Given the description of an element on the screen output the (x, y) to click on. 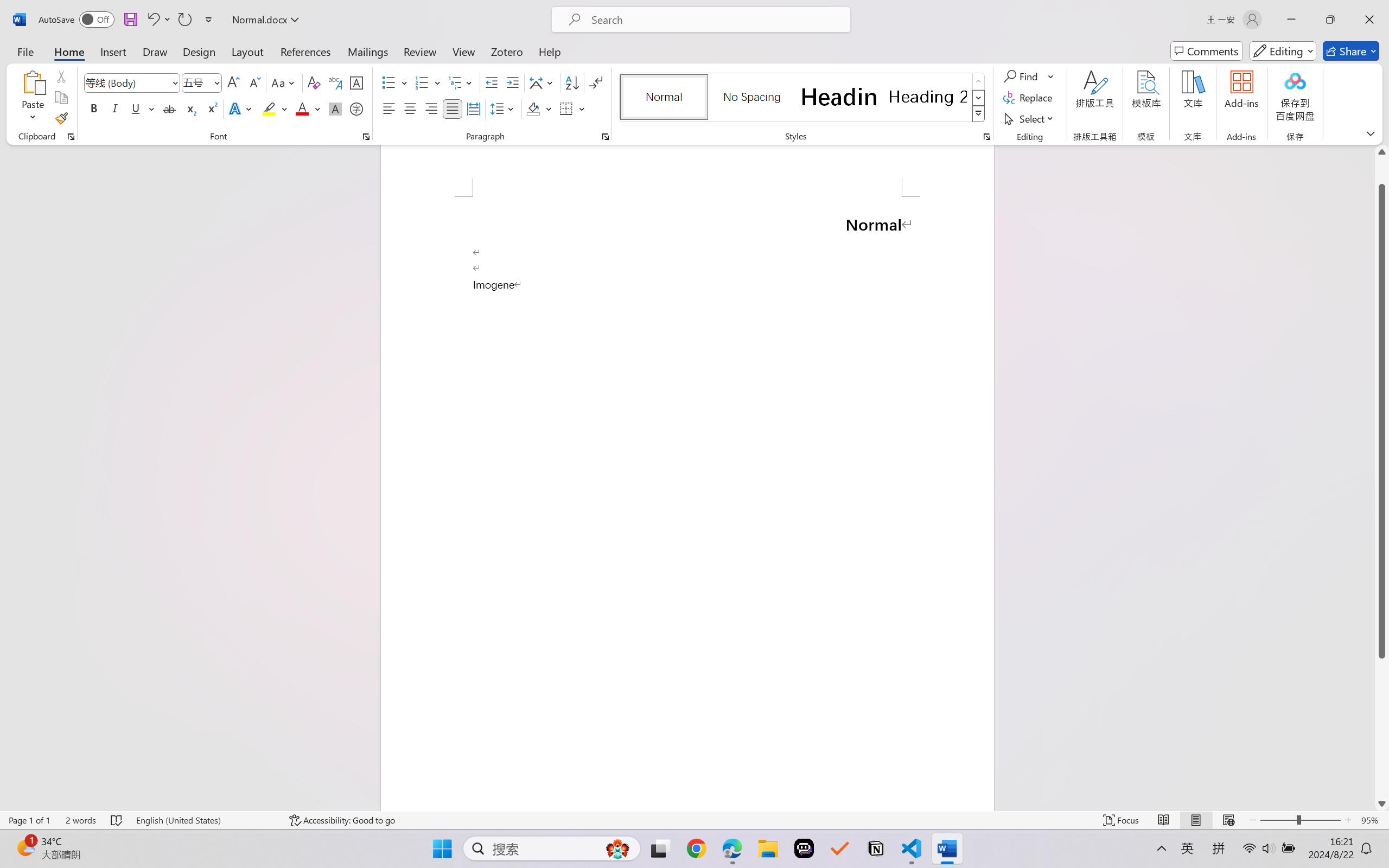
Heading 1 (839, 96)
AutomationID: QuickStylesGallery (802, 97)
Cut (60, 75)
Justify (452, 108)
Shrink Font (253, 82)
Character Border (356, 82)
Enclose Characters... (356, 108)
Heading 2 (927, 96)
Line down (1382, 803)
Superscript (210, 108)
